Given the description of an element on the screen output the (x, y) to click on. 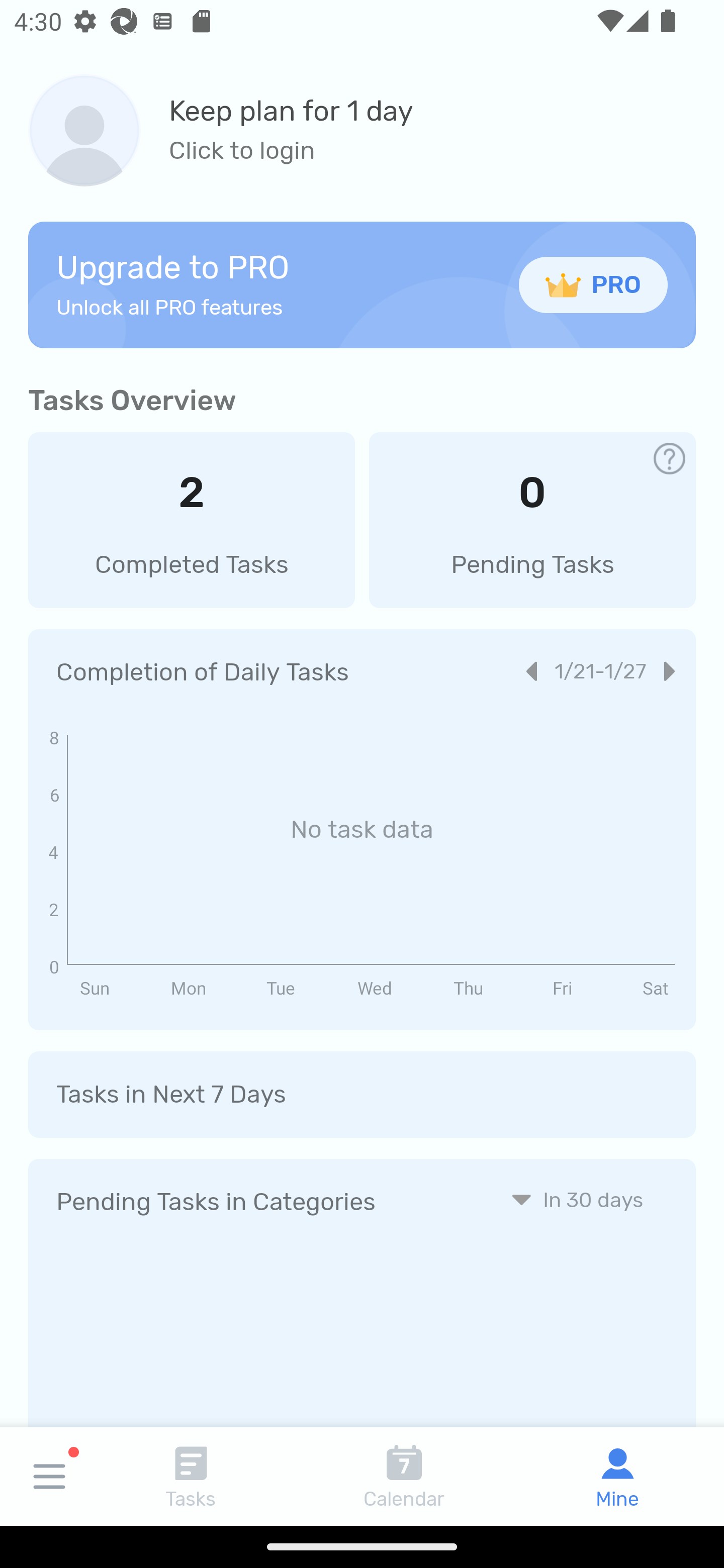
Click to login (291, 151)
Upgrade to PRO Unlock all PRO features PRO (361, 284)
In 30 days (577, 1199)
Tasks (190, 1475)
Calendar (404, 1475)
Mine (617, 1475)
